Given the description of an element on the screen output the (x, y) to click on. 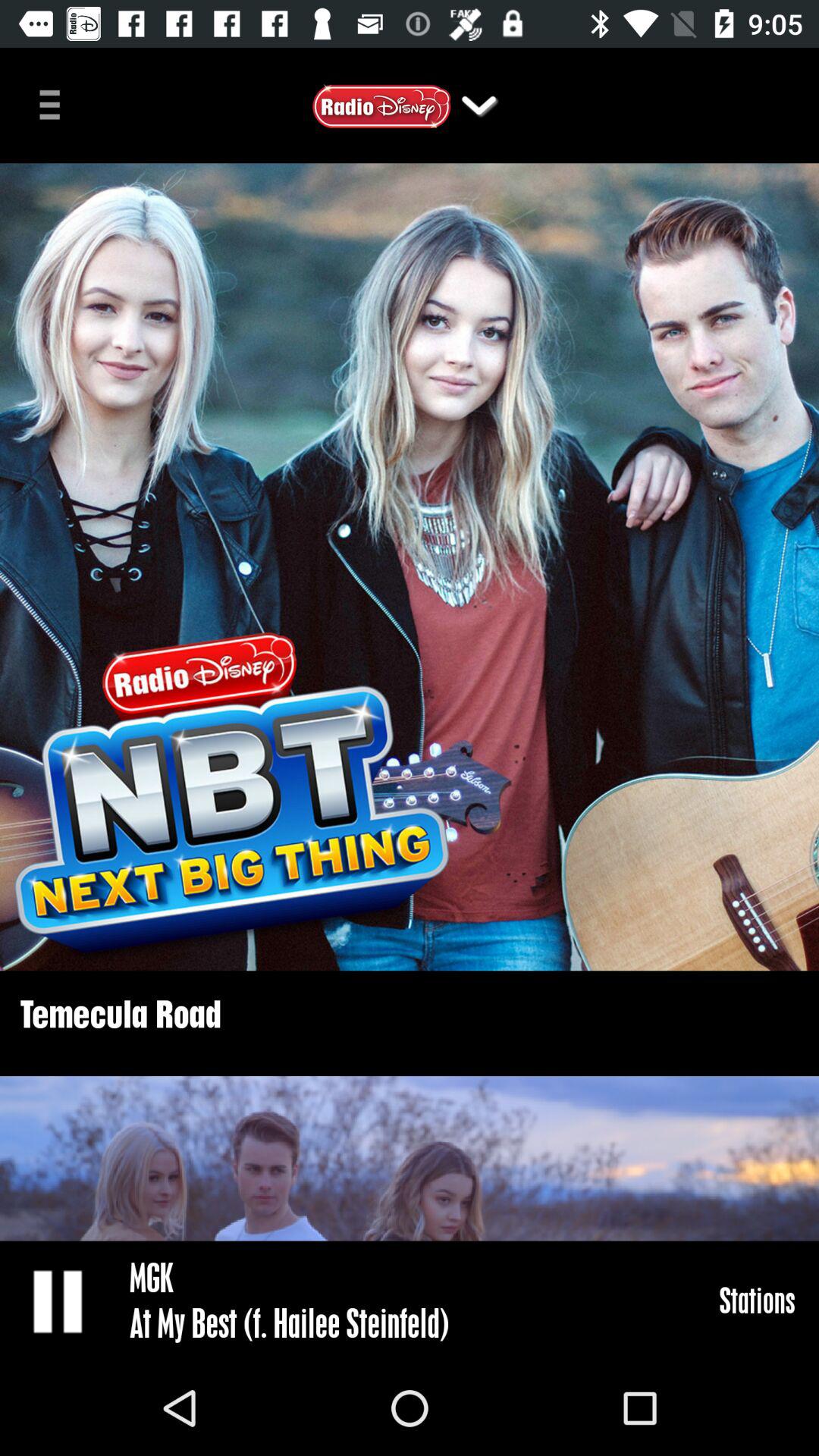
turn off the icon to the right of the mgk (757, 1300)
